Given the description of an element on the screen output the (x, y) to click on. 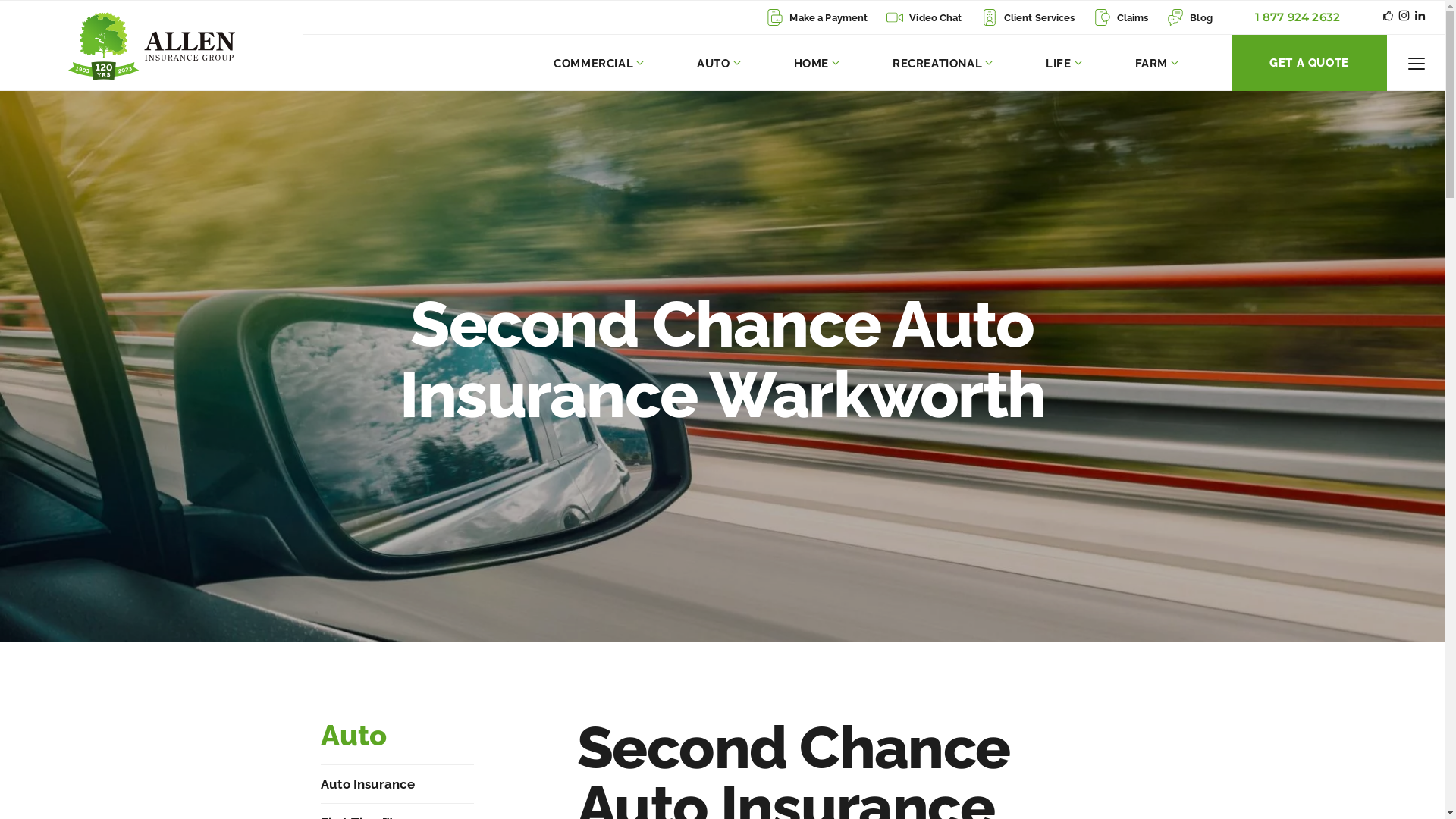
RECREATIONAL Element type: text (942, 62)
COMMERCIAL Element type: text (598, 62)
Toggle Menu Element type: text (1415, 62)
Linkedin Element type: hover (1419, 16)
Video Chat Element type: text (923, 17)
AUTO Element type: text (718, 62)
GET A QUOTE Element type: text (1308, 62)
HOME Element type: text (816, 62)
LIFE Element type: text (1063, 62)
Facebook Element type: hover (1387, 16)
Client Services Element type: text (1028, 17)
Instagram Element type: hover (1403, 16)
FARM Element type: text (1156, 62)
Blog Element type: text (1189, 17)
Claims Element type: text (1121, 17)
Home Element type: hover (151, 45)
Make a Payment Element type: text (816, 17)
1 877 924 2632 Element type: text (1297, 16)
Auto Insurance Element type: text (367, 783)
